Given the description of an element on the screen output the (x, y) to click on. 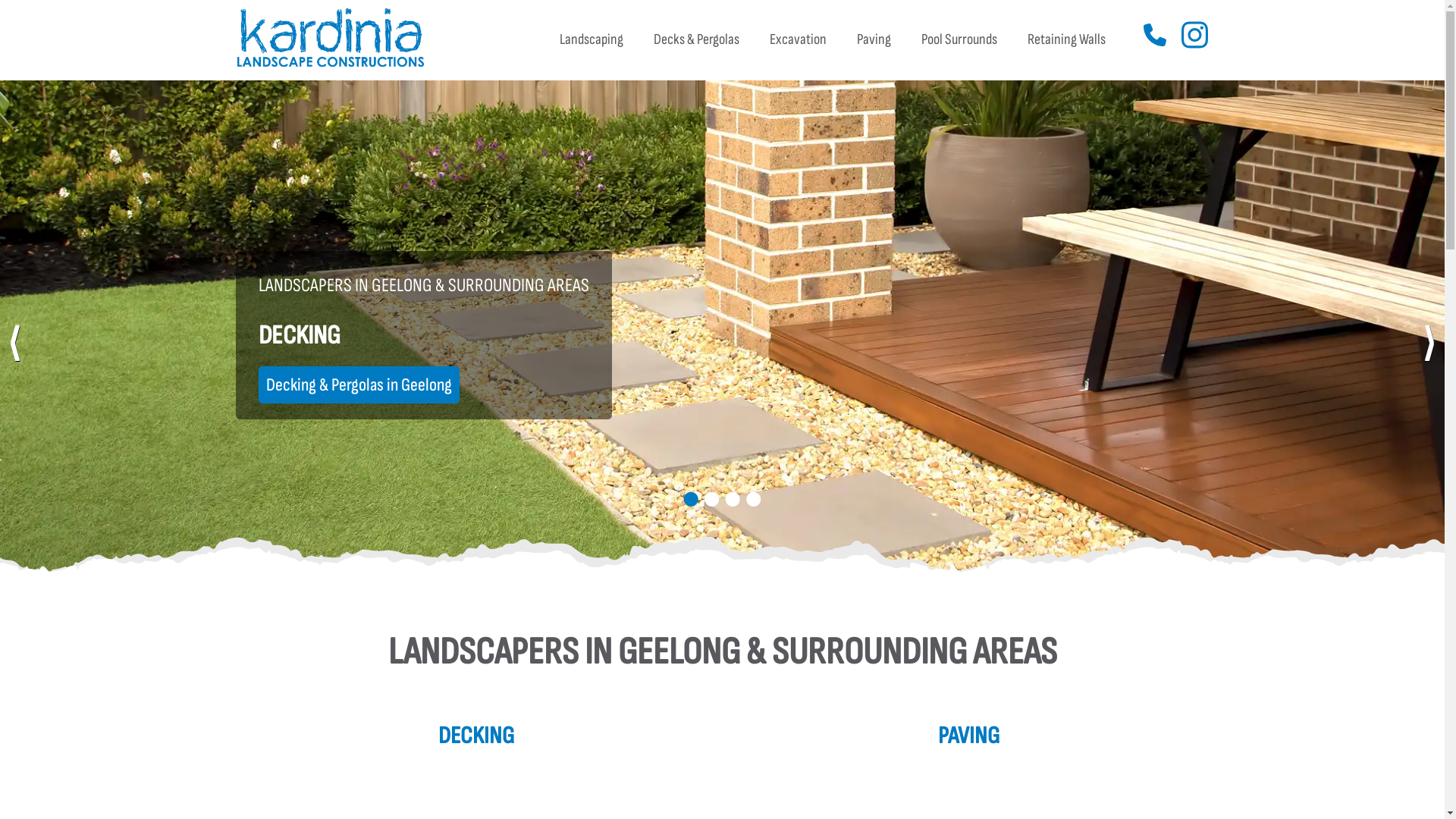
Pool Surrounds Element type: text (958, 39)
Paving Element type: text (873, 39)
Decking & Pergolas in Geelong Element type: text (357, 384)
Retaining Walls Element type: text (1065, 39)
Landscaping Element type: text (591, 39)
Excavation Element type: text (797, 39)
Decks & Pergolas Element type: text (696, 39)
